Given the description of an element on the screen output the (x, y) to click on. 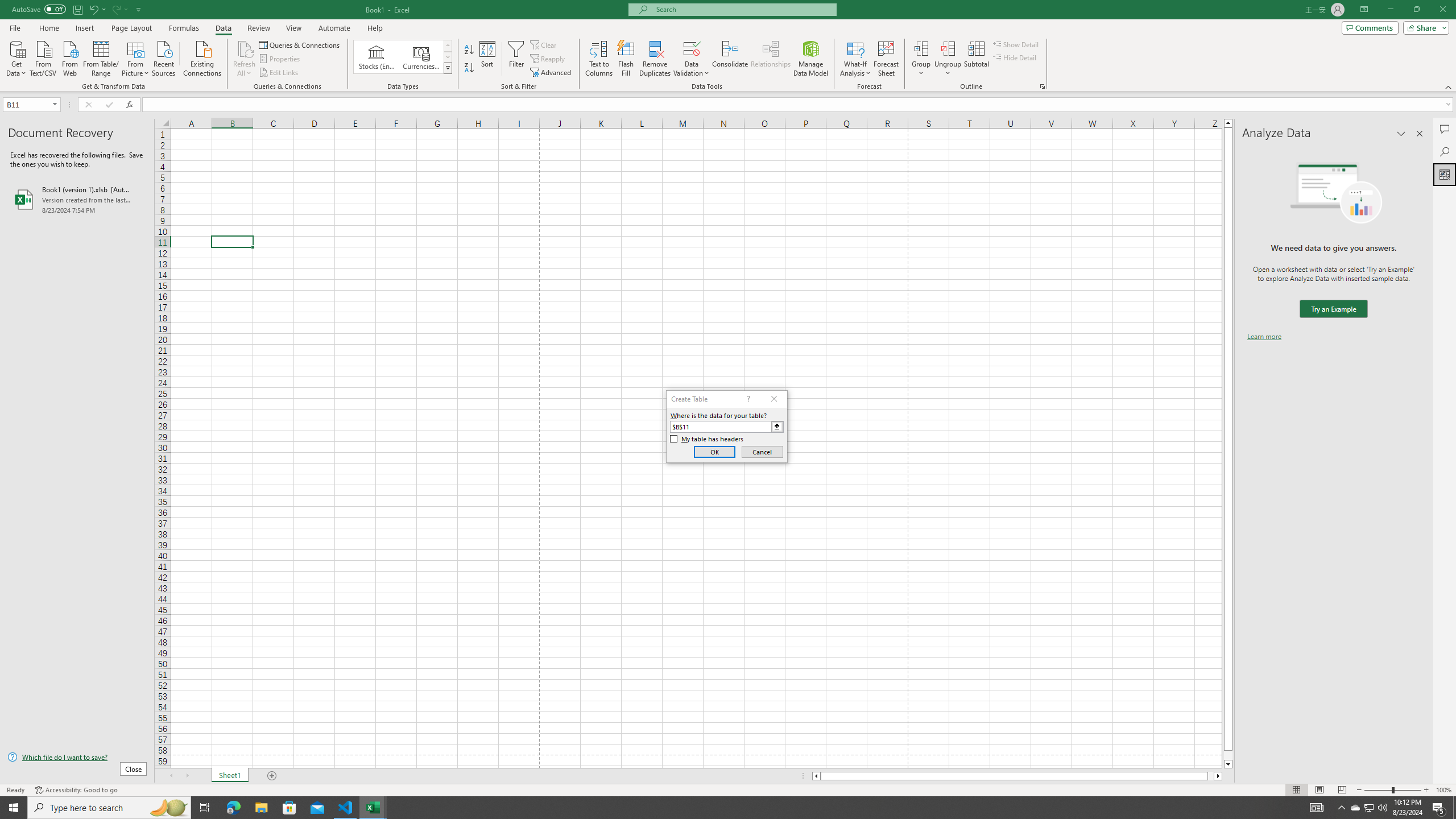
Edit Links (279, 72)
Existing Connections (202, 57)
Queries & Connections (300, 44)
Manage Data Model (810, 58)
